Given the description of an element on the screen output the (x, y) to click on. 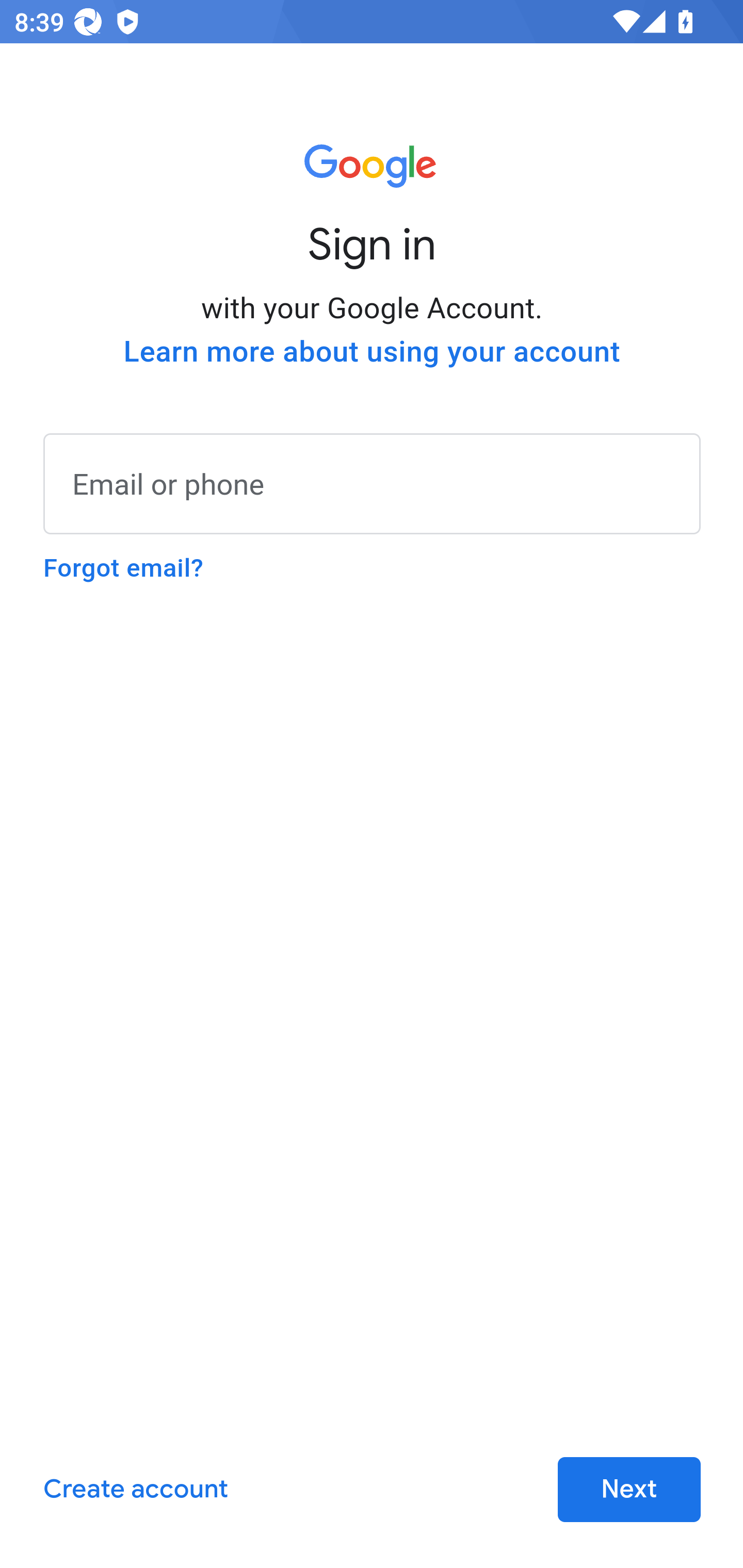
Learn more about using your account (371, 351)
Forgot email? (123, 568)
Create account (134, 1490)
Next (629, 1490)
